Given the description of an element on the screen output the (x, y) to click on. 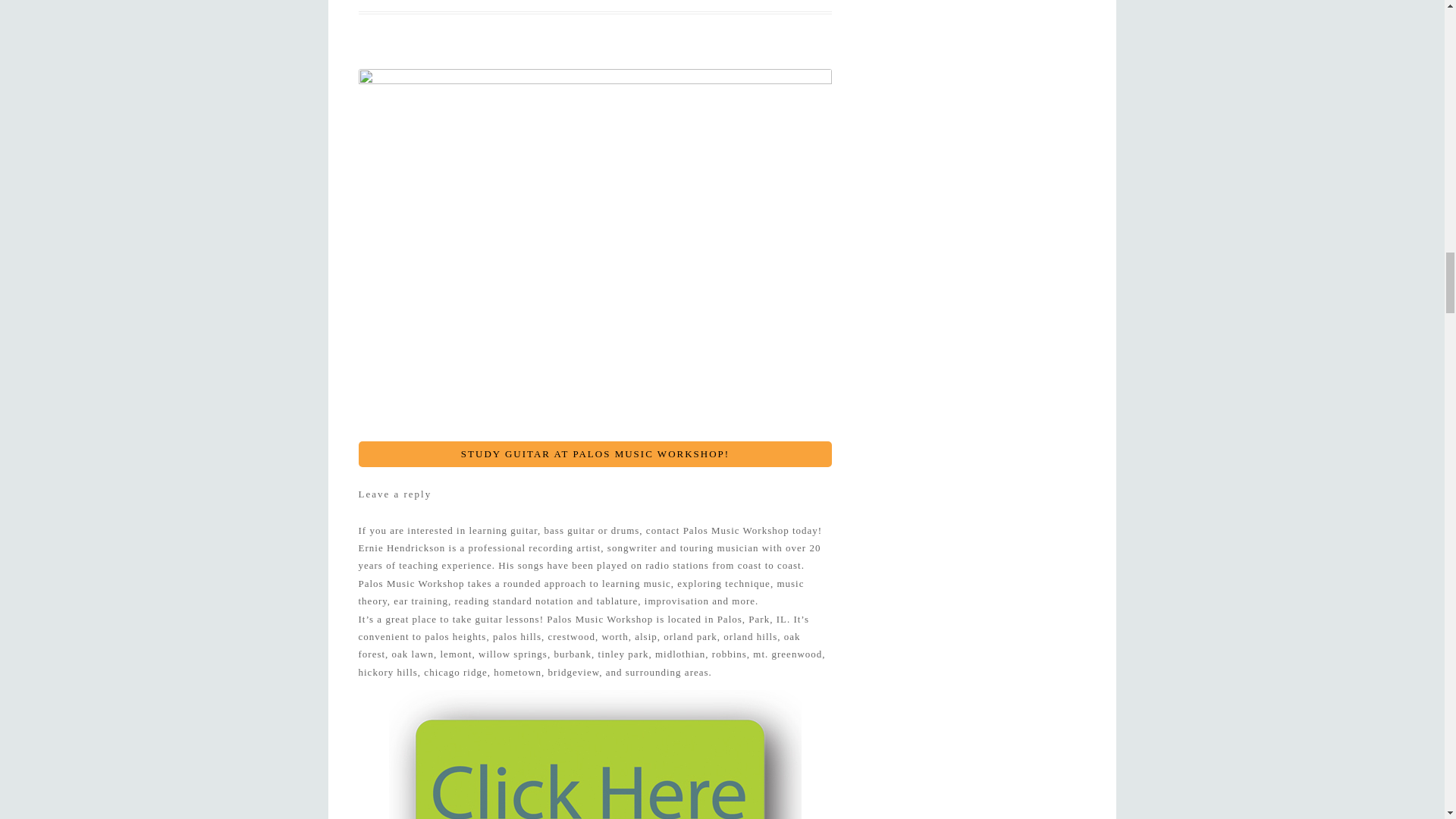
Contact (594, 754)
